Given the description of an element on the screen output the (x, y) to click on. 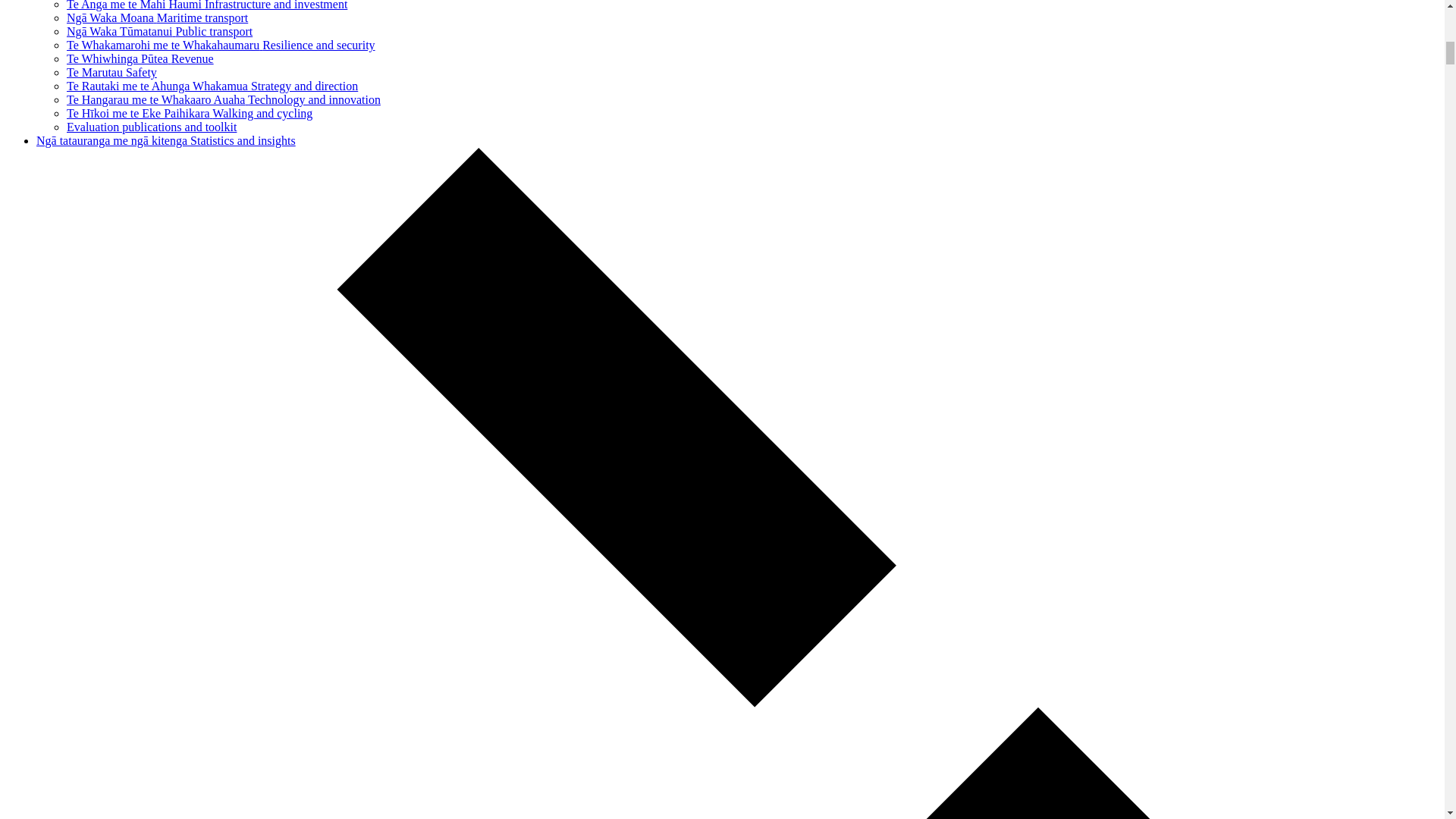
Te Marutau Safety (111, 72)
Te Hangarau me te Whakaaro Auaha Technology and innovation (223, 99)
Te Rautaki me te Ahunga Whakamua Strategy and direction (212, 85)
Evaluation publications and toolkit (150, 126)
Te Whakamarohi me te Whakahaumaru Resilience and security (220, 44)
Te Anga me te Mahi Haumi Infrastructure and investment (206, 5)
